Given the description of an element on the screen output the (x, y) to click on. 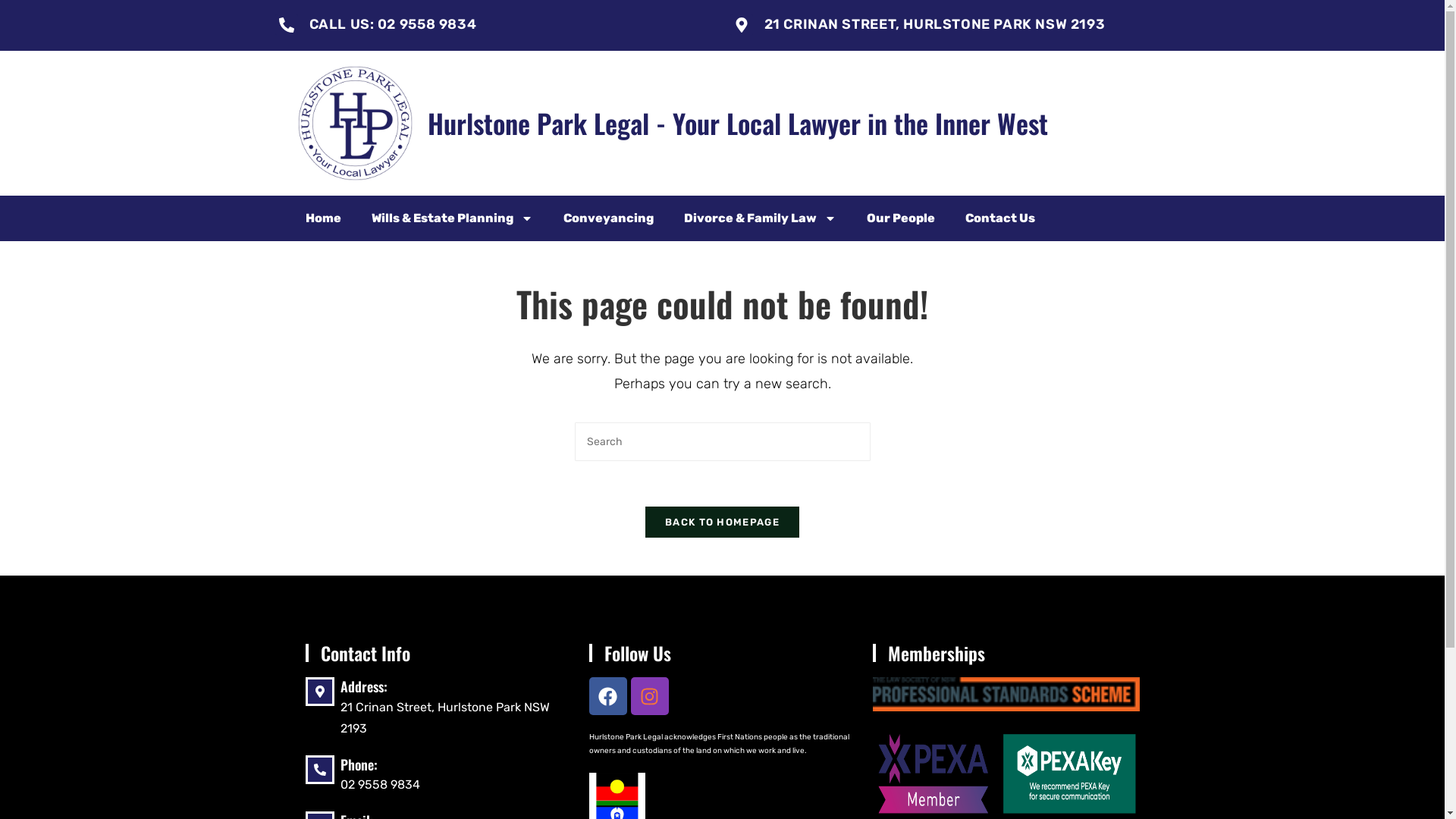
BACK TO HOMEPAGE Element type: text (722, 521)
Our People Element type: text (899, 218)
02 9558 9834 Element type: text (379, 784)
Contact Us Element type: text (999, 218)
Wills & Estate Planning Element type: text (452, 218)
Phone: Element type: text (357, 764)
Conveyancing Element type: text (607, 218)
Home Element type: text (322, 218)
Divorce & Family Law Element type: text (759, 218)
CALL US: 02 9558 9834 Element type: text (392, 23)
